Given the description of an element on the screen output the (x, y) to click on. 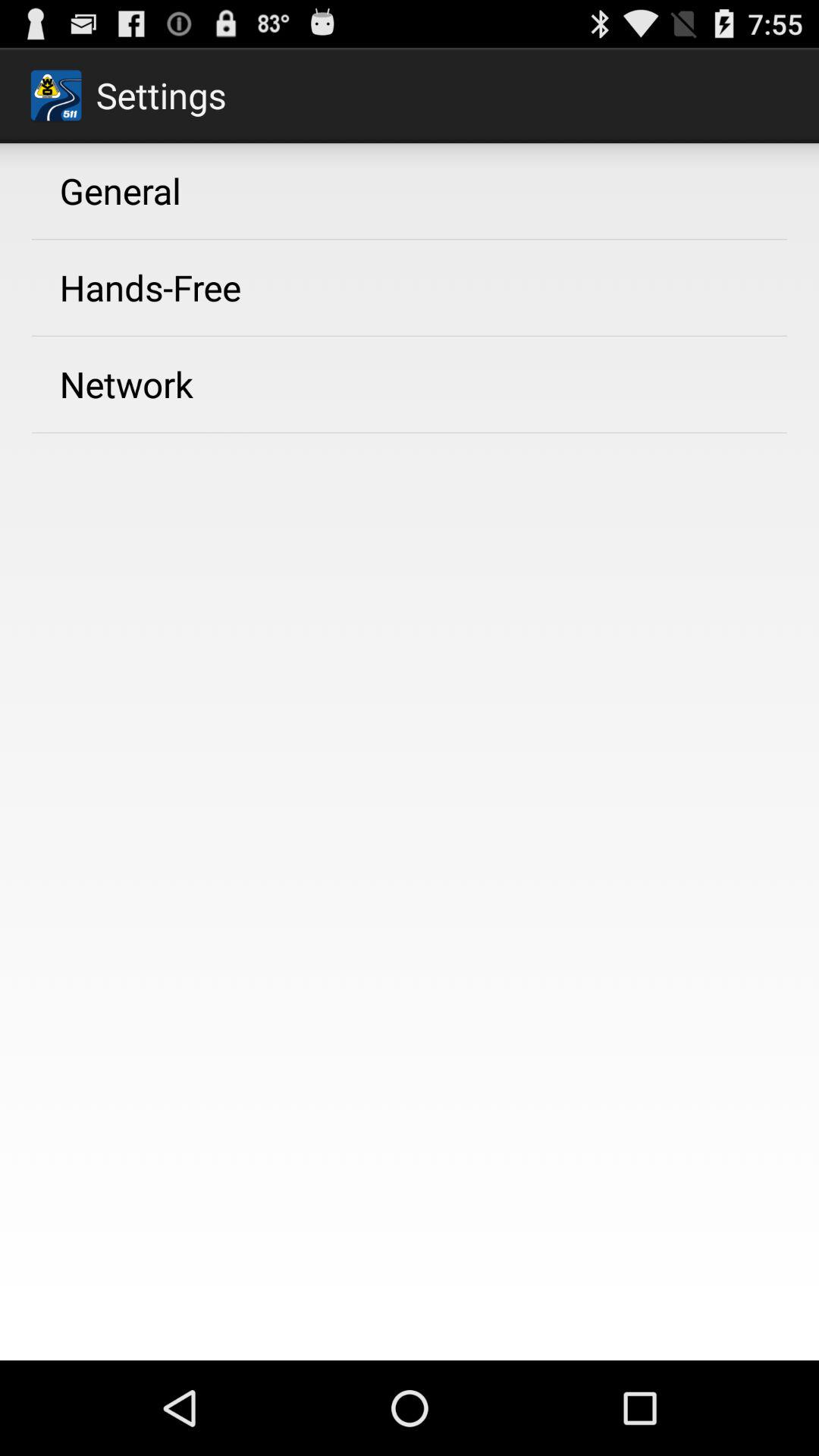
launch the network icon (126, 384)
